Given the description of an element on the screen output the (x, y) to click on. 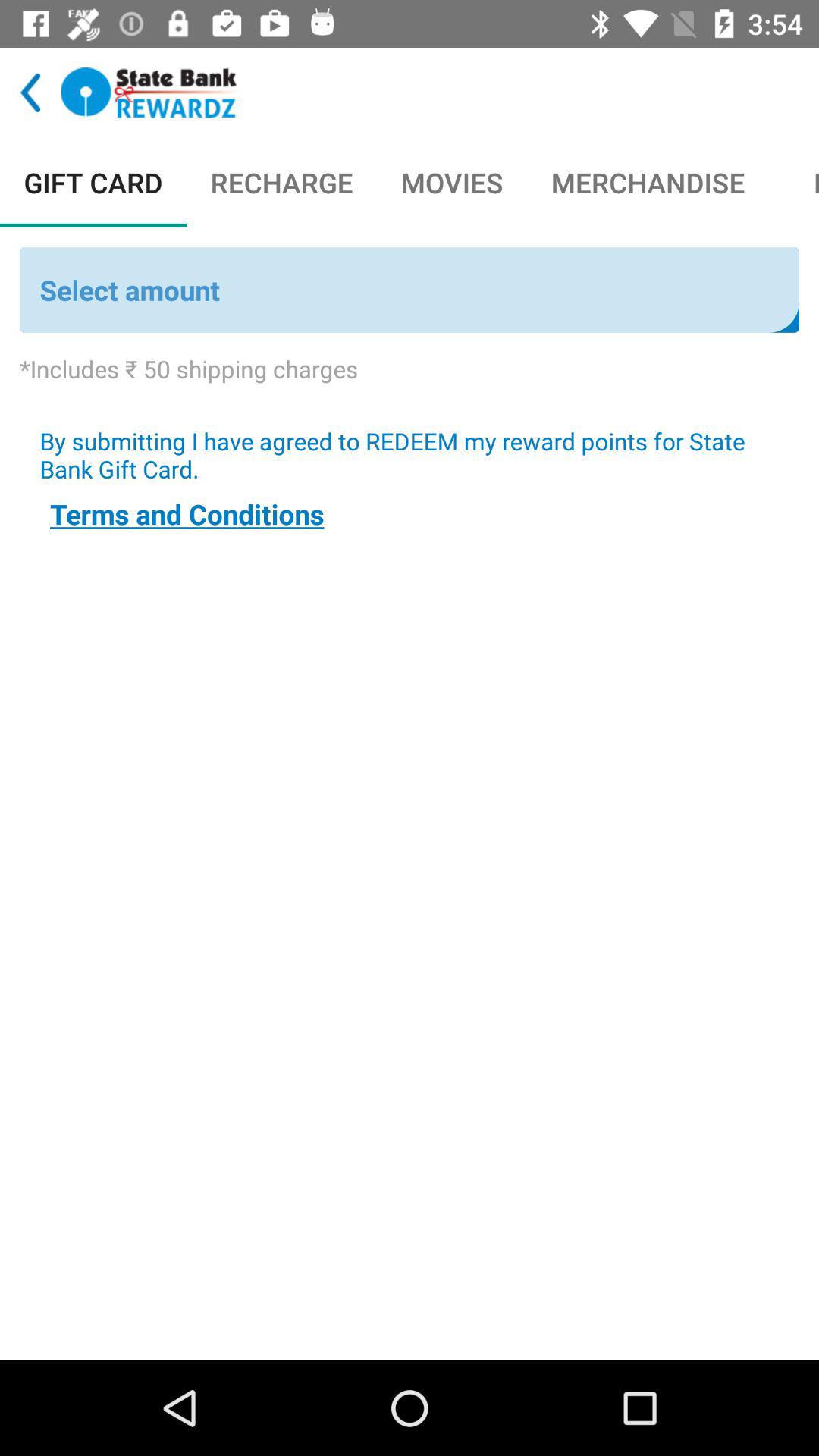
go back to title screen (148, 92)
